Given the description of an element on the screen output the (x, y) to click on. 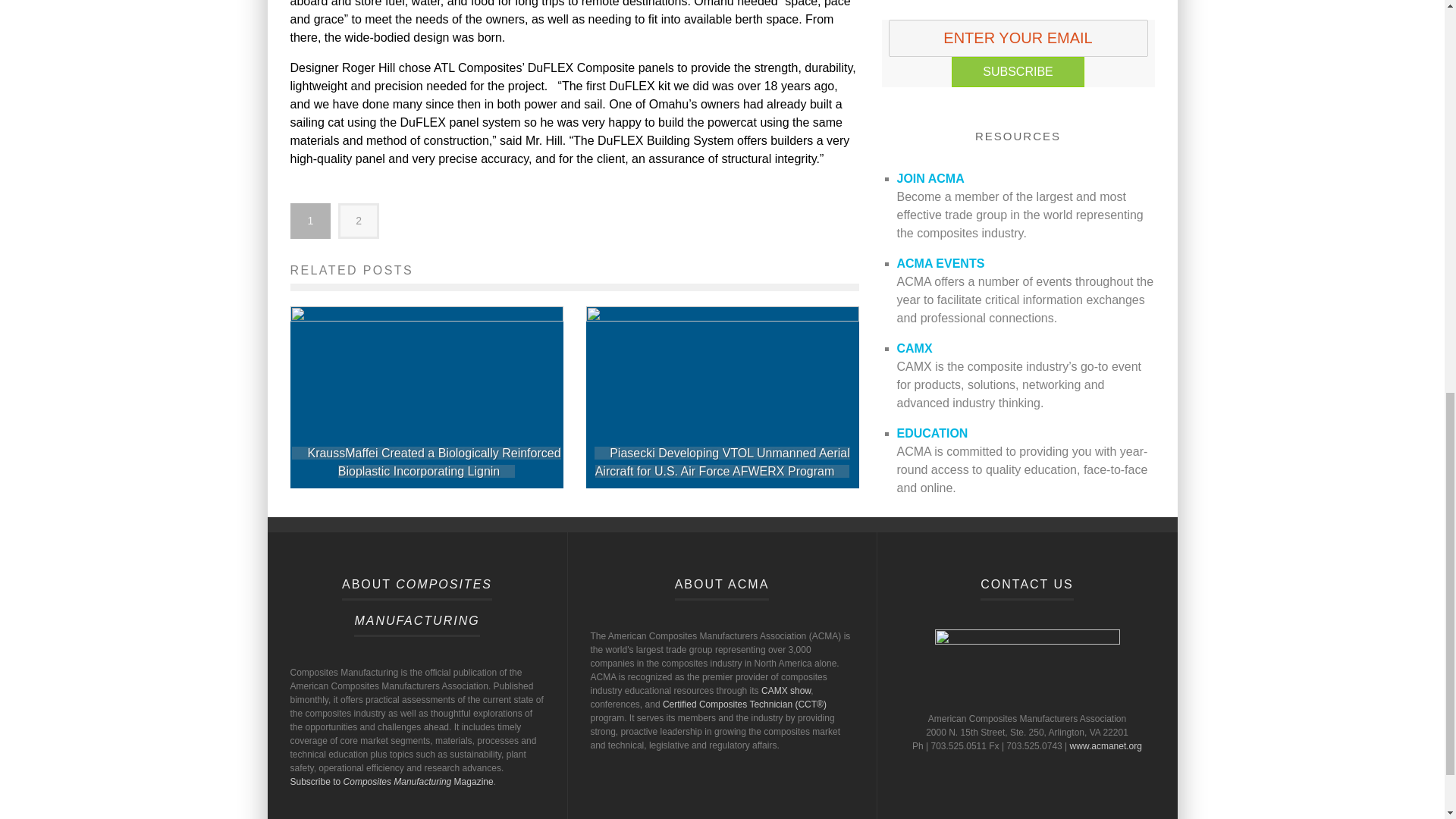
Subscribe (1017, 71)
Enter Your Email (1018, 37)
